Given the description of an element on the screen output the (x, y) to click on. 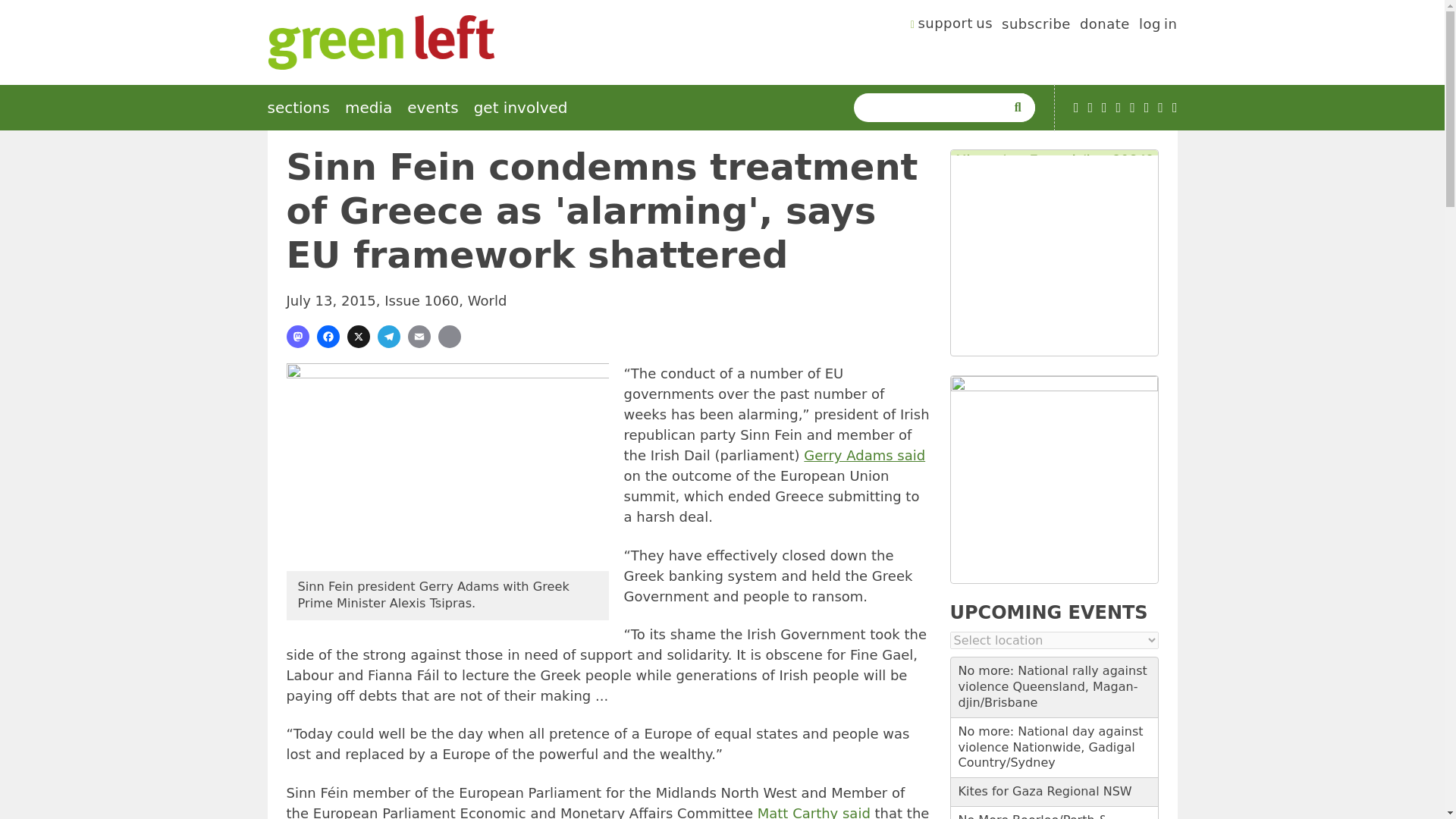
log in (1157, 26)
Share on Telegram (388, 336)
Enter the terms you wish to search for. (932, 107)
donate (1104, 26)
Share on X (358, 336)
Print (449, 336)
support us (951, 26)
Facebook (1104, 107)
YouTube (1076, 107)
share via email (418, 336)
Share on Facebook (328, 336)
Share on Mastondon (297, 336)
TikTok (1118, 107)
events (432, 107)
Podcast (1090, 107)
